Given the description of an element on the screen output the (x, y) to click on. 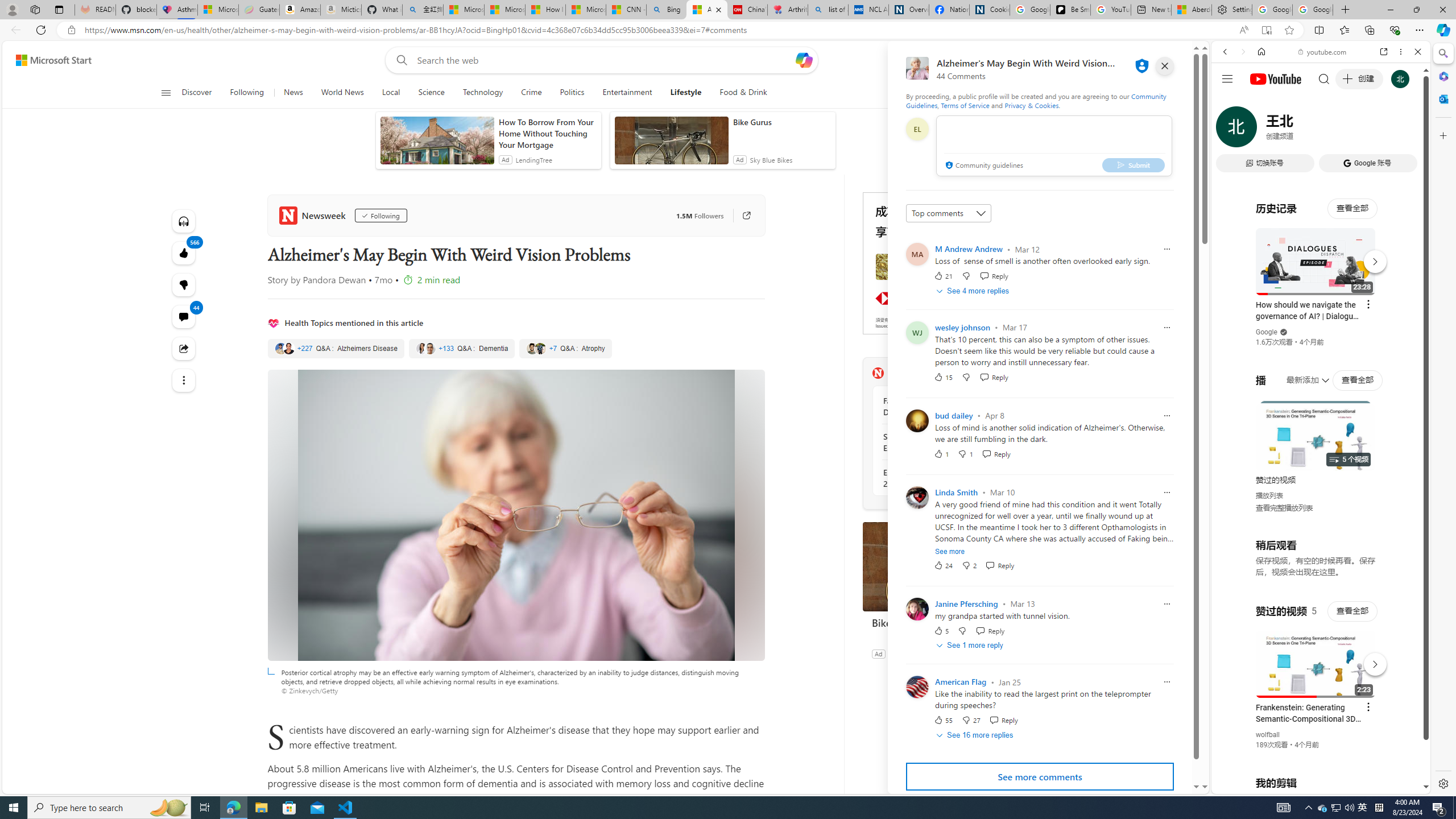
How To Borrow From Your Home Without Touching Your Mortgage (546, 133)
New tab (1150, 9)
#you (1315, 659)
Janine Pfersching (966, 603)
Personalize (1006, 92)
Newsweek (877, 372)
Enter Immersive Reader (F9) (1266, 29)
Split screen (1318, 29)
Food & Drink (743, 92)
Lifestyle (685, 92)
Atrophy (565, 348)
Notifications (1152, 60)
